Given the description of an element on the screen output the (x, y) to click on. 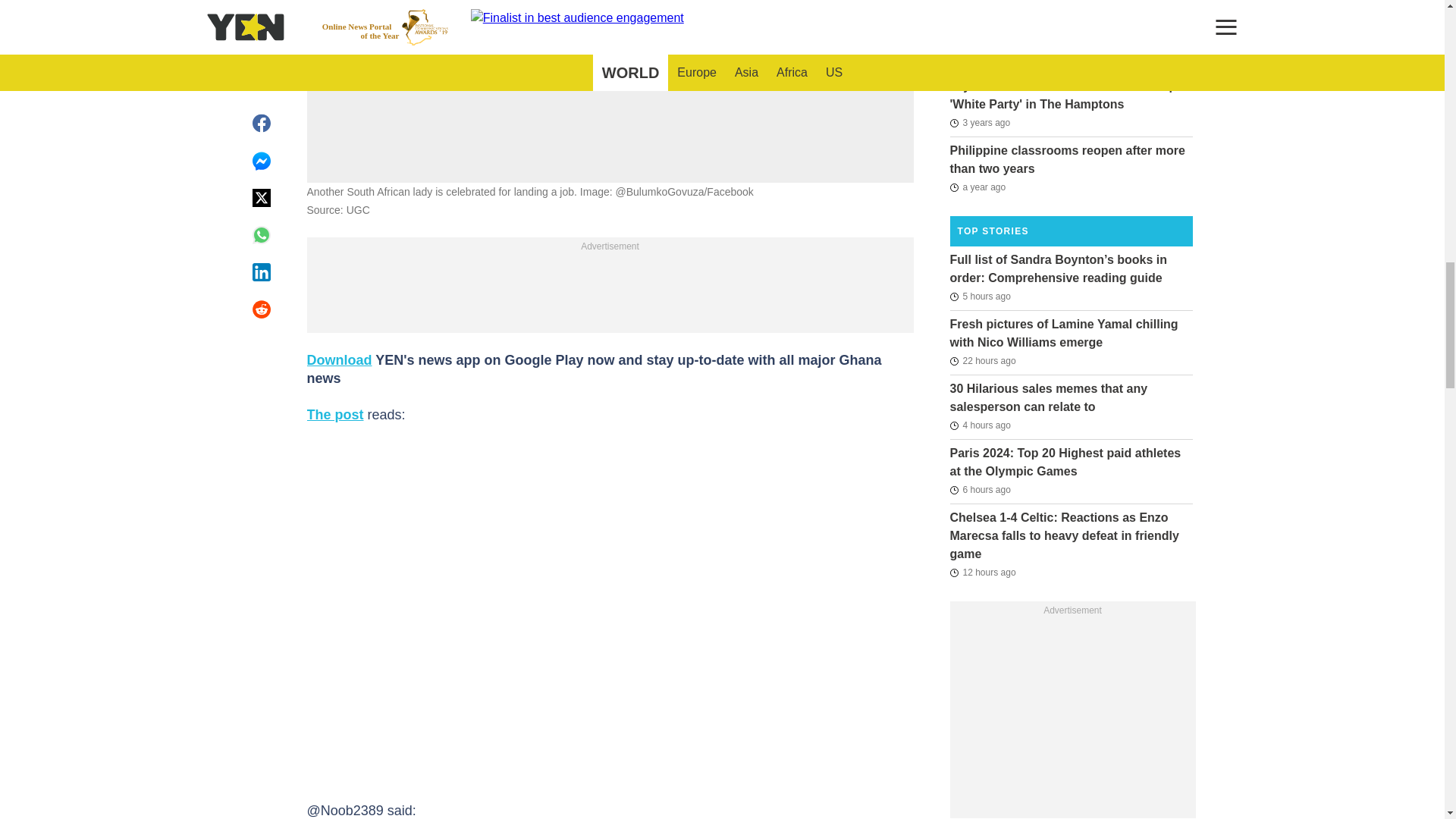
Mzansi, Woman, Celebrates, Job, Almighty (609, 41)
